Given the description of an element on the screen output the (x, y) to click on. 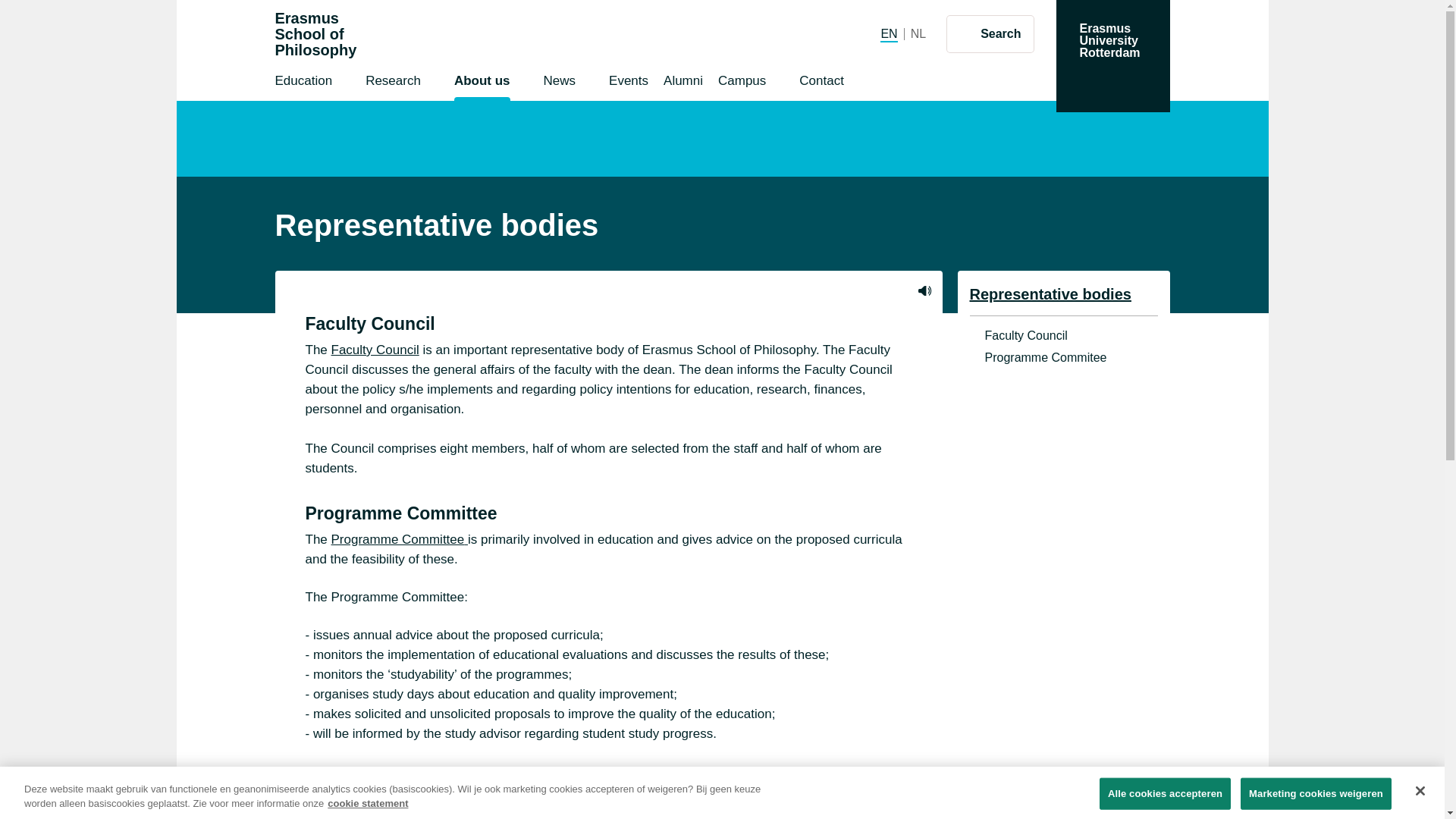
Listen to this page using ReadSpeaker (923, 290)
News (559, 82)
Faculty Council (1063, 335)
Search (989, 33)
Education (302, 82)
Campus (918, 33)
Events (741, 82)
Alumni (627, 82)
Research (683, 82)
